Given the description of an element on the screen output the (x, y) to click on. 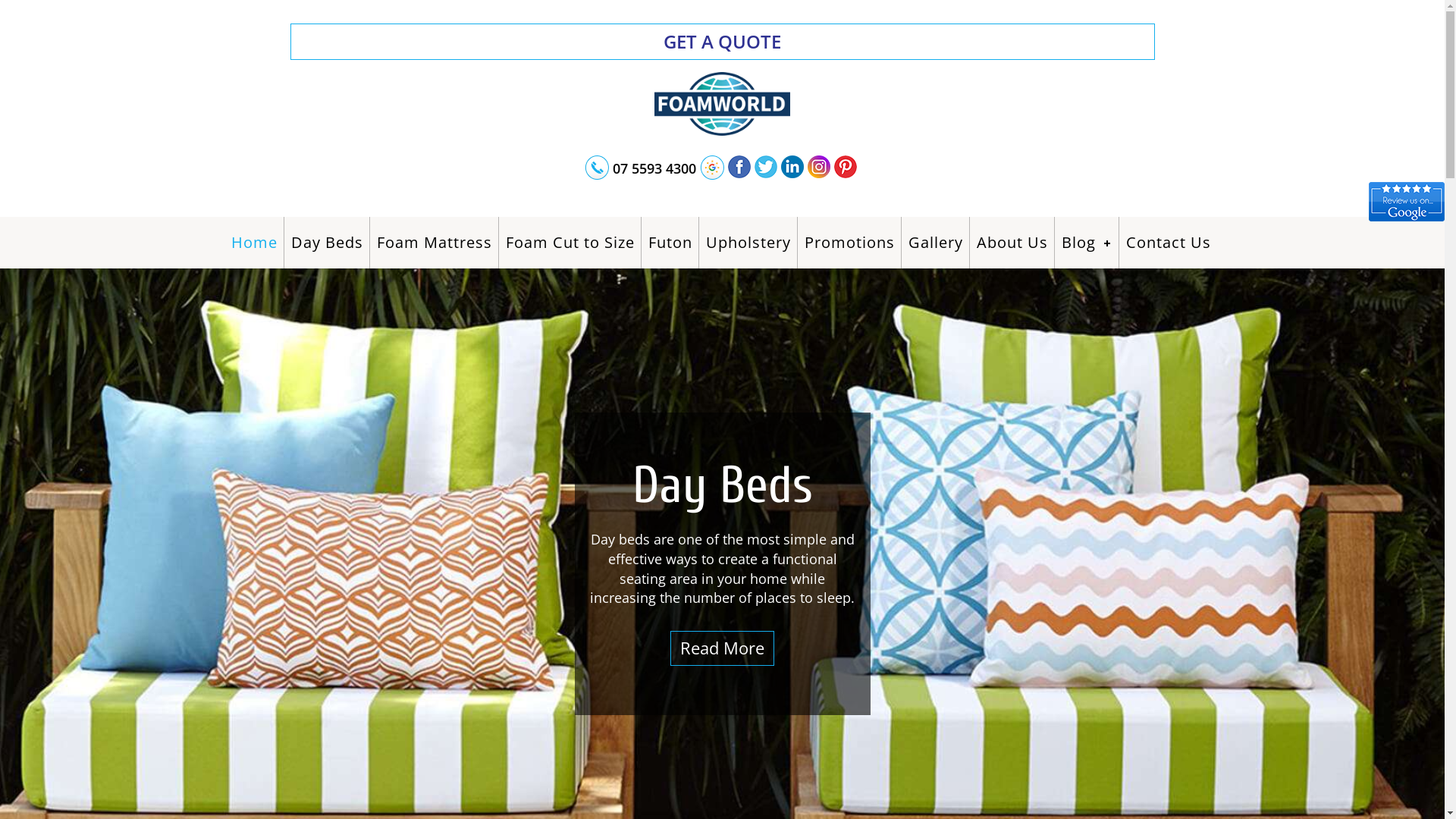
Upholstery Element type: text (748, 242)
Day Beds Element type: text (327, 242)
07 5593 4300 Element type: text (654, 171)
Blog Element type: text (1087, 242)
Foam Cut to Size Element type: text (569, 242)
Home Element type: text (253, 242)
Contact Us Element type: text (1167, 242)
Gallery Element type: text (935, 242)
Futon Element type: text (669, 242)
Foam Mattress Element type: text (434, 242)
Read More Element type: text (722, 647)
Promotions Element type: text (848, 242)
About Us Element type: text (1012, 242)
GET A QUOTE Element type: text (721, 41)
